Given the description of an element on the screen output the (x, y) to click on. 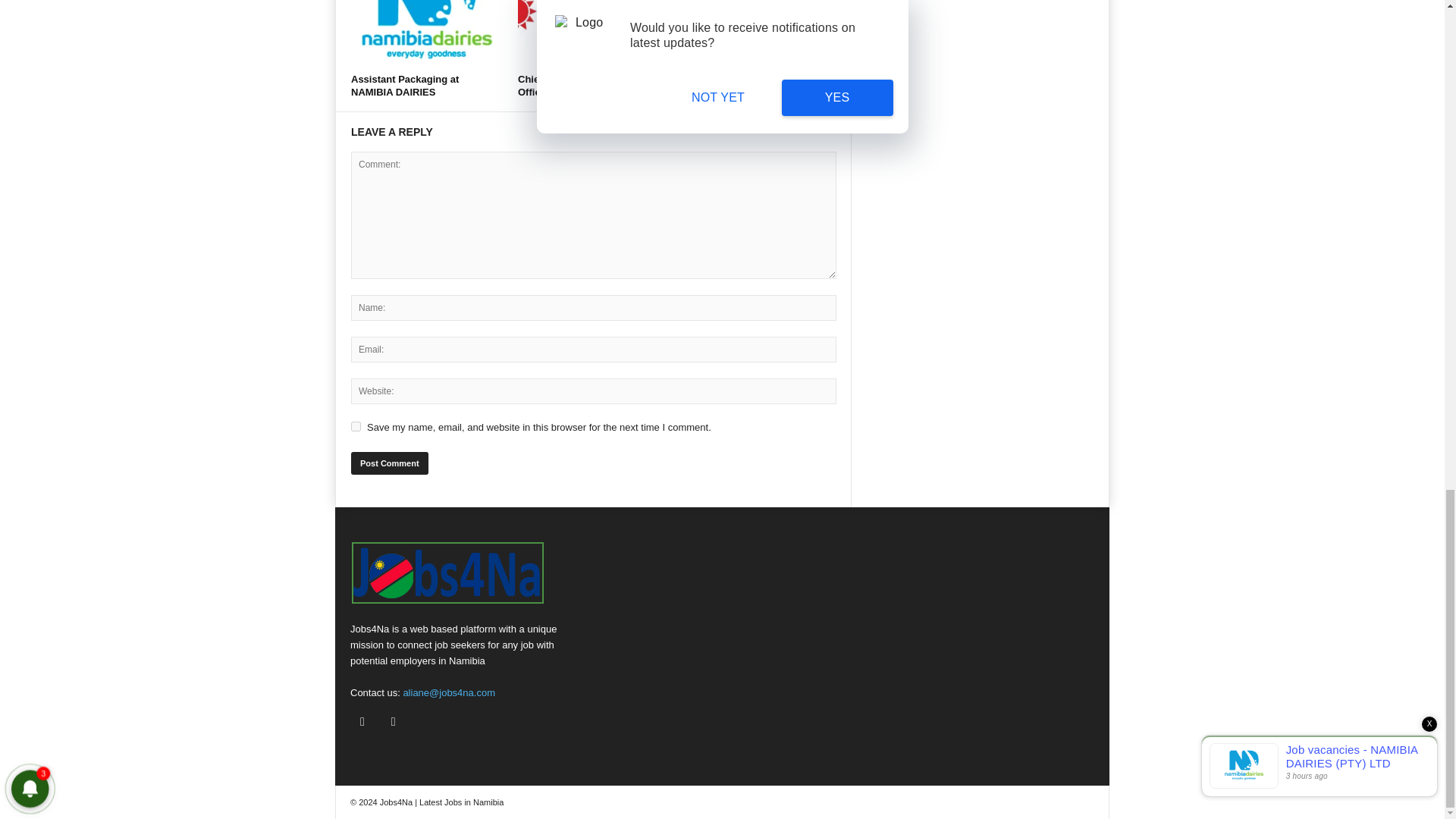
Chief Investment and Finacial Officer at TRUSCO NAMIBIA (588, 85)
Assistant Packaging at NAMIBIA DAIRIES (426, 33)
Post Comment (389, 463)
Clerk: Accounts Payable at SWAKOP URANIUM (747, 85)
Post Comment (389, 463)
Assistant Packaging at NAMIBIA DAIRIES (404, 85)
yes (355, 426)
Assistant Packaging at NAMIBIA DAIRIES (404, 85)
